Given the description of an element on the screen output the (x, y) to click on. 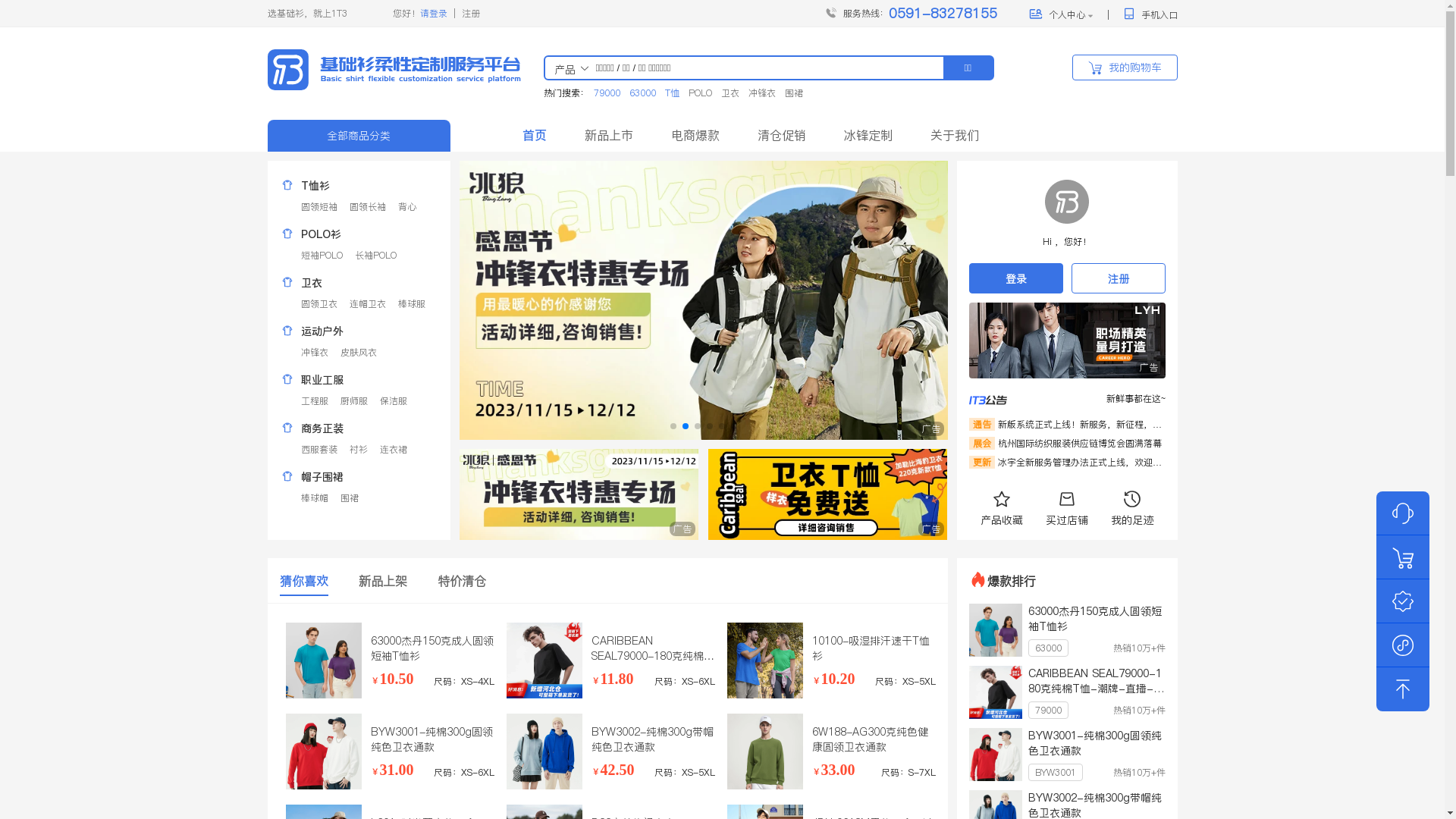
79000 Element type: text (606, 92)
63000 Element type: text (642, 92)
POLO Element type: text (700, 92)
